Given the description of an element on the screen output the (x, y) to click on. 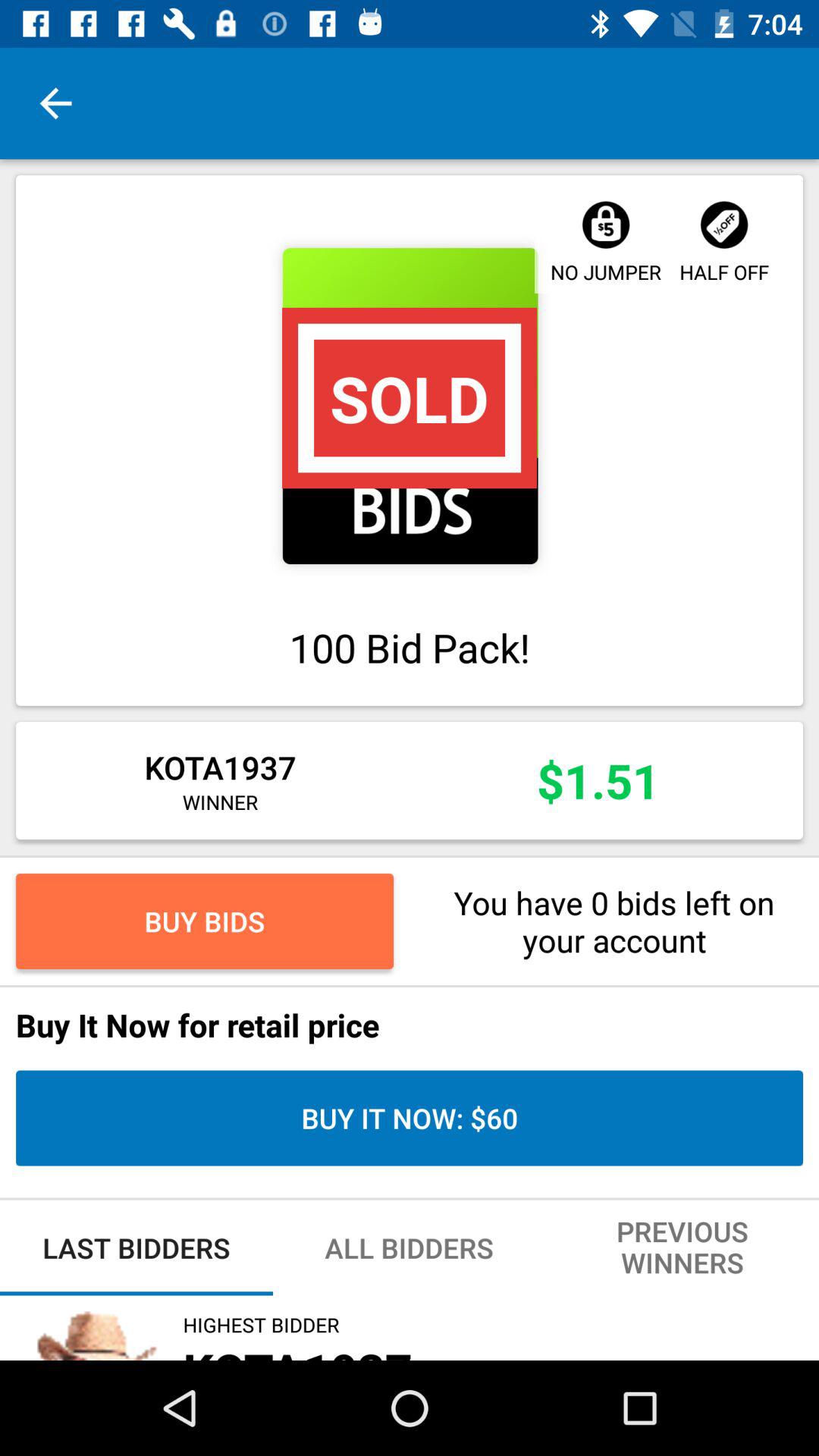
press icon above 100 bid pack! item (409, 406)
